Given the description of an element on the screen output the (x, y) to click on. 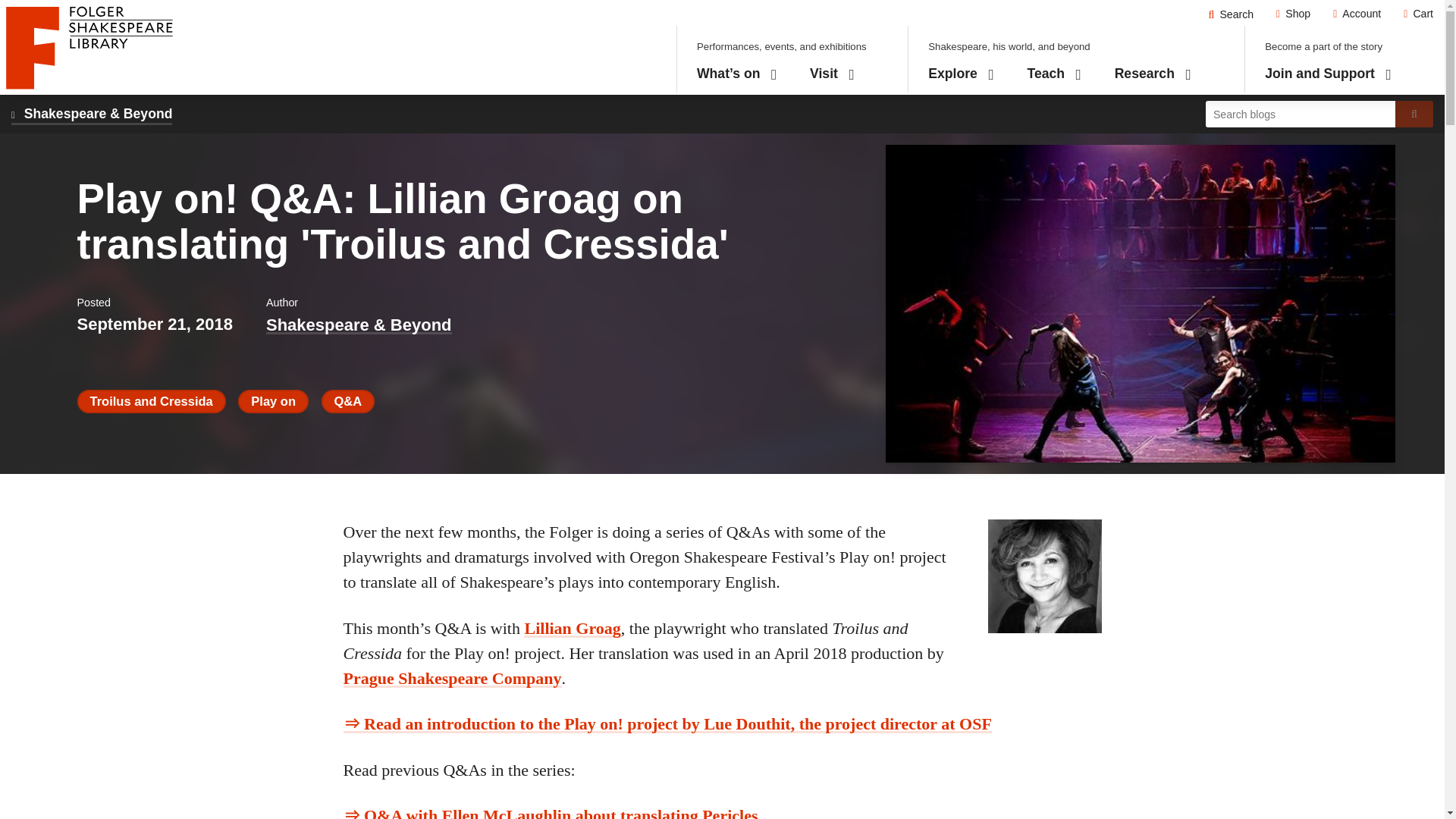
Folger Shakespeare Library - Home (89, 47)
Teach (1053, 73)
Explore (961, 73)
Research (1152, 73)
Account (1230, 14)
Troilus and Cressida (1356, 13)
Visit (1293, 13)
